Given the description of an element on the screen output the (x, y) to click on. 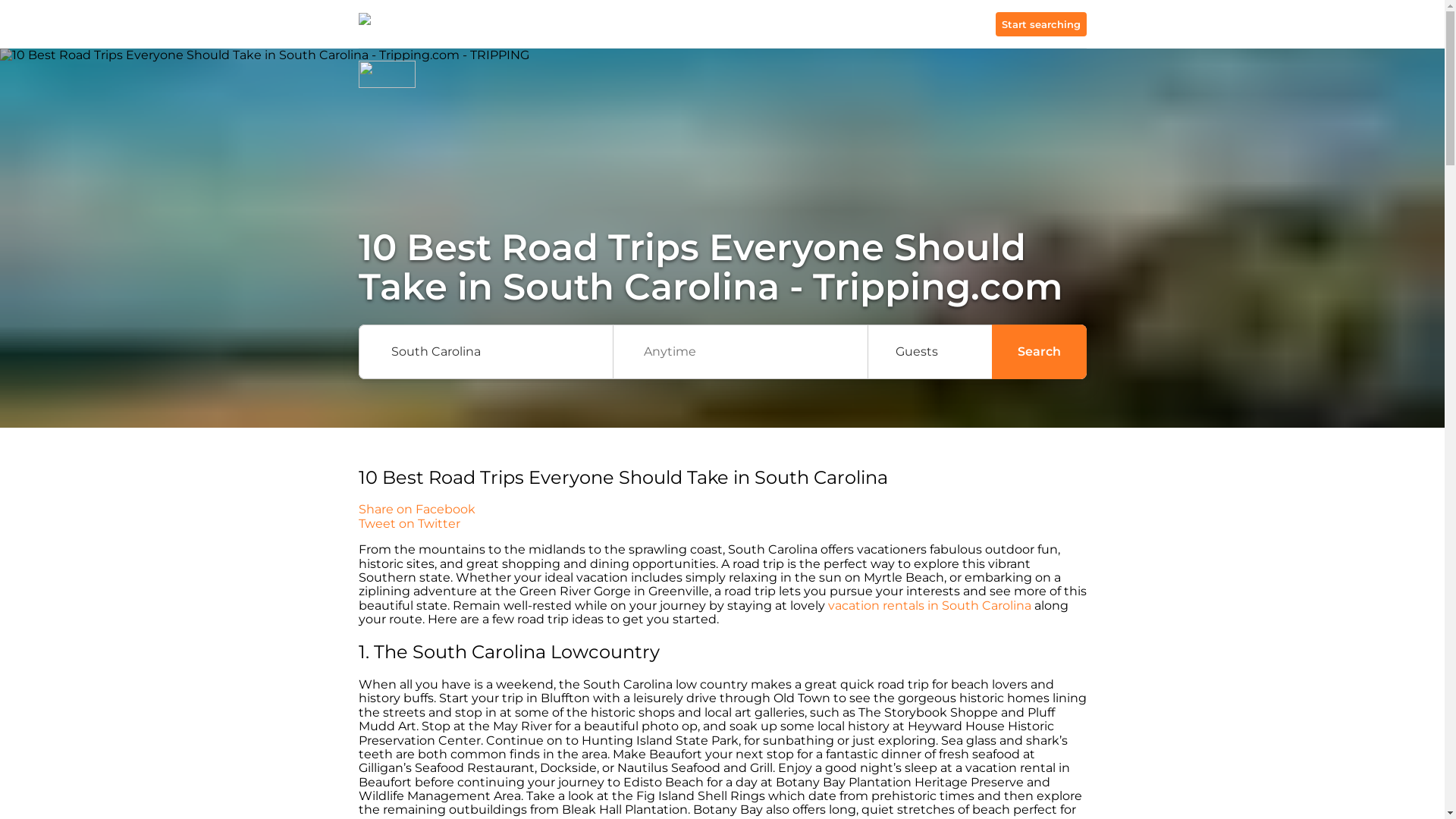
vacation rentals in South Carolina (929, 605)
Tweet on Twitter (722, 523)
Search (1038, 351)
Start searching (1040, 24)
Share on Facebook (722, 509)
